Given the description of an element on the screen output the (x, y) to click on. 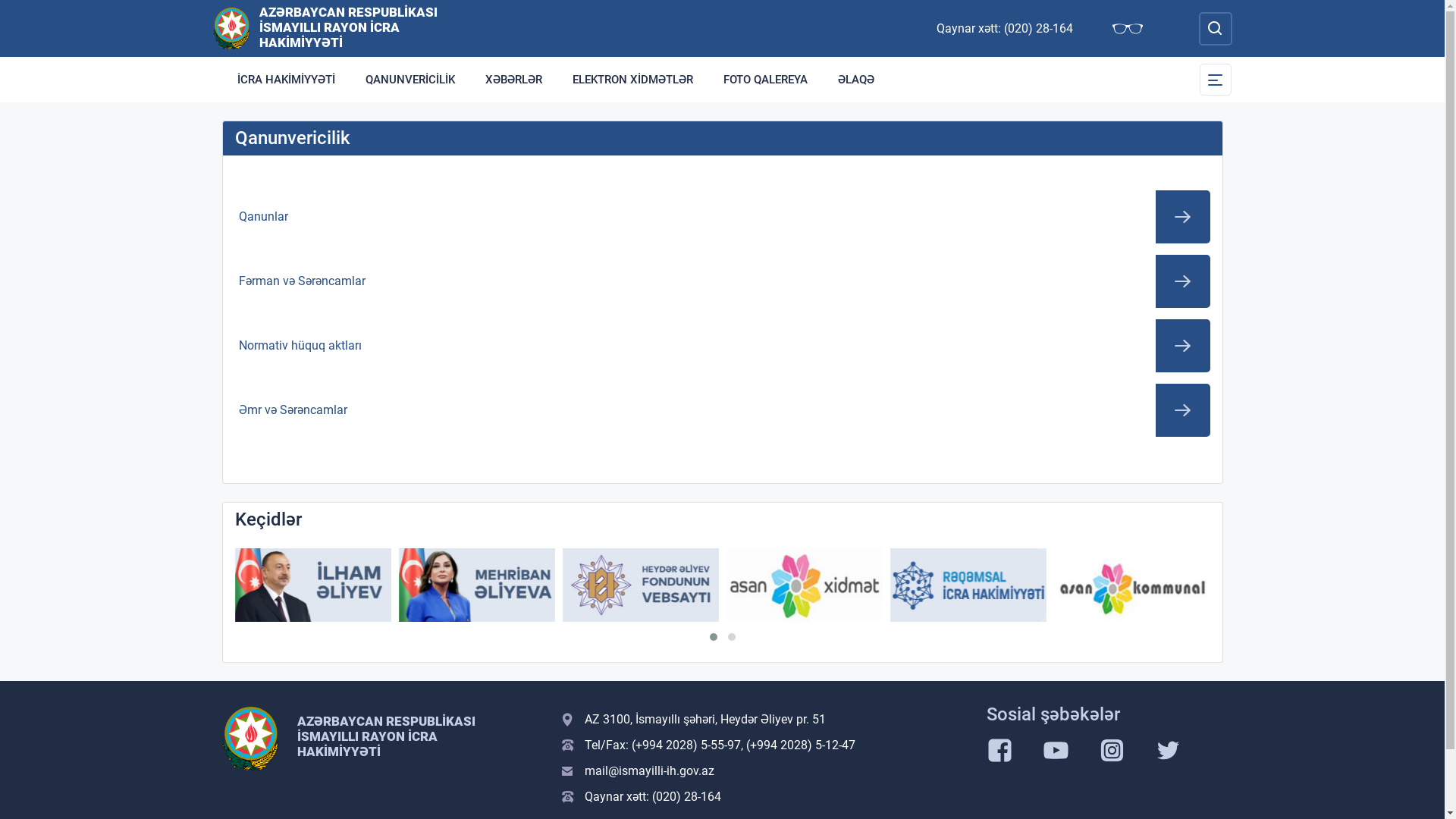
FOTO QALEREYA Element type: text (765, 79)
mail@ismayilli-ih.gov.az Element type: text (764, 771)
Asan komunal Element type: hover (1132, 584)
Qanunlar Element type: text (722, 216)
QANUNVERICILIK Element type: text (410, 79)
